Given the description of an element on the screen output the (x, y) to click on. 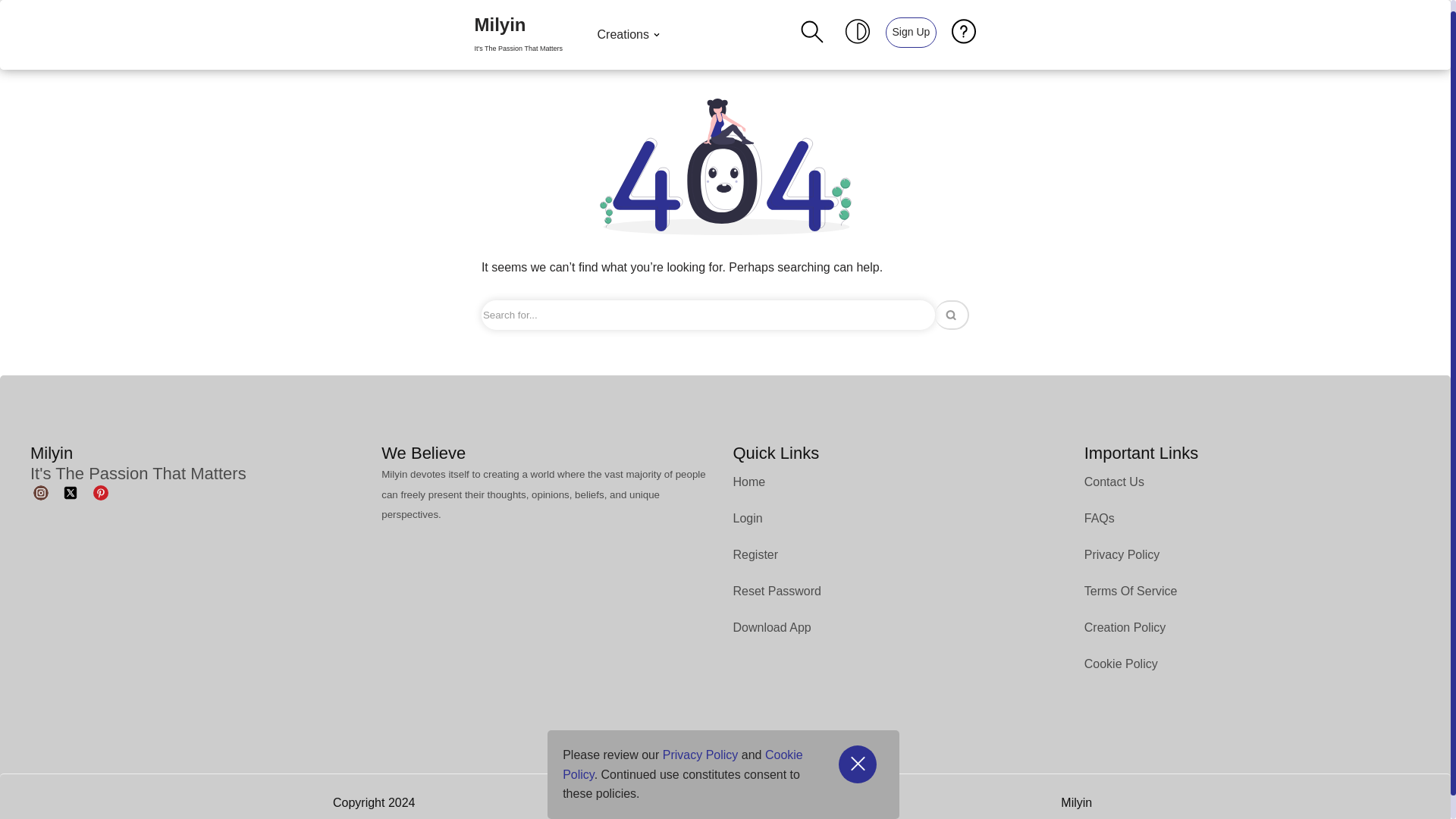
Skip to content (11, 31)
Sign Up (910, 31)
Milyin (518, 34)
Sign Up (518, 34)
Creations (911, 32)
